Given the description of an element on the screen output the (x, y) to click on. 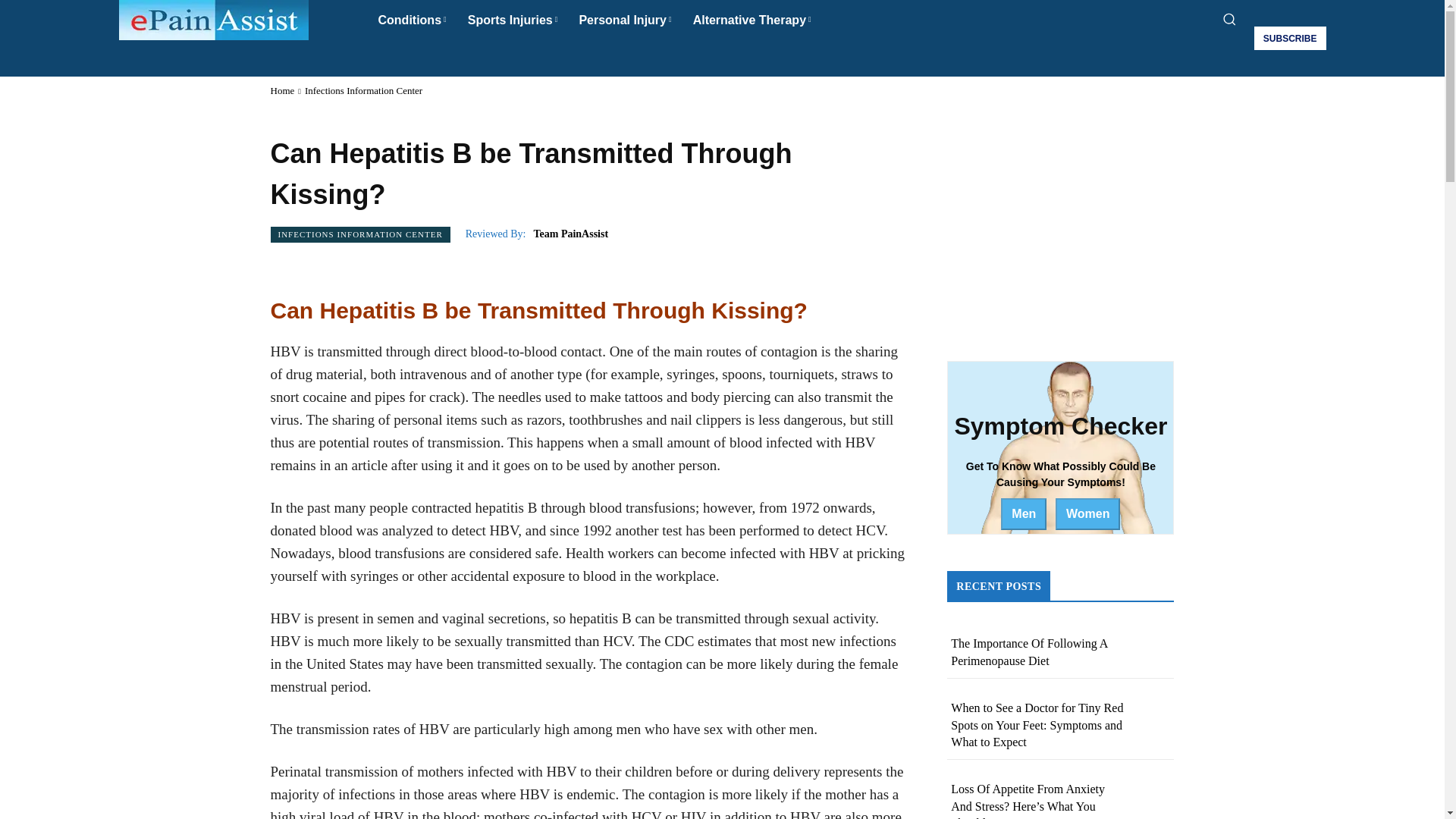
Search (722, 55)
The Importance Of Following A Perimenopause Diet (1029, 651)
View all posts in Infections Information Center (363, 90)
